Given the description of an element on the screen output the (x, y) to click on. 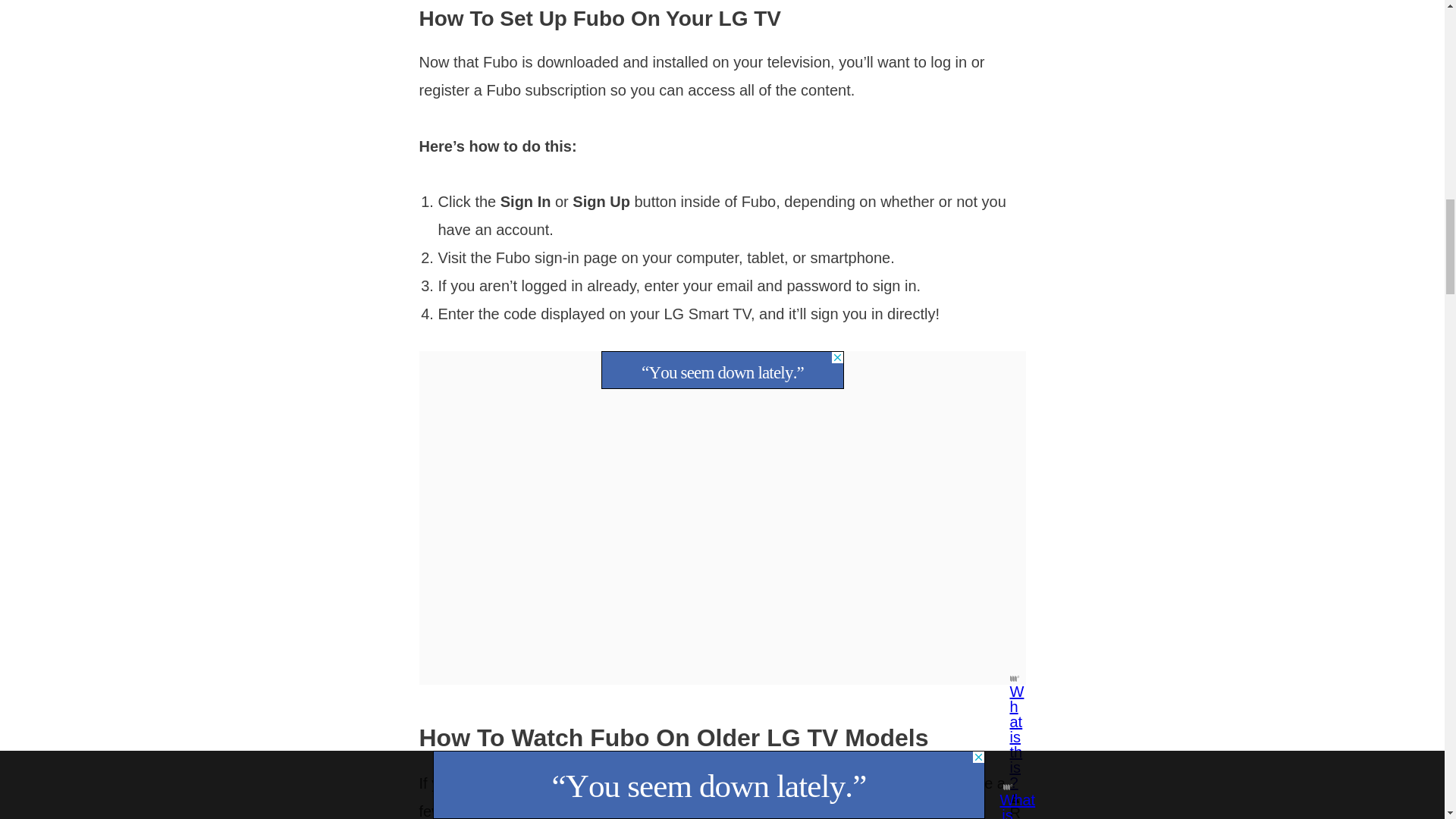
3rd party ad content (721, 370)
